Given the description of an element on the screen output the (x, y) to click on. 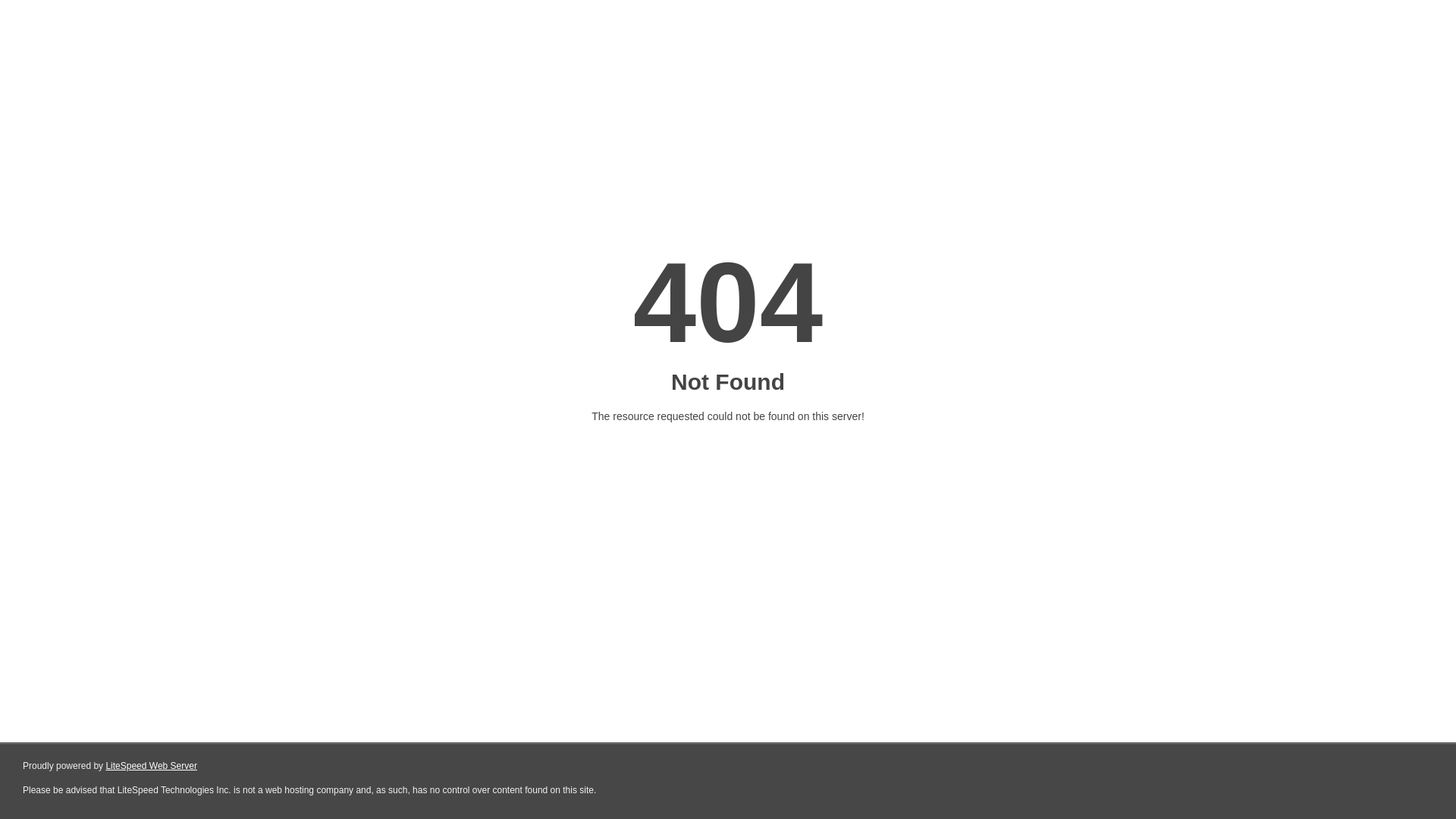
LiteSpeed Web Server Element type: text (151, 765)
